Given the description of an element on the screen output the (x, y) to click on. 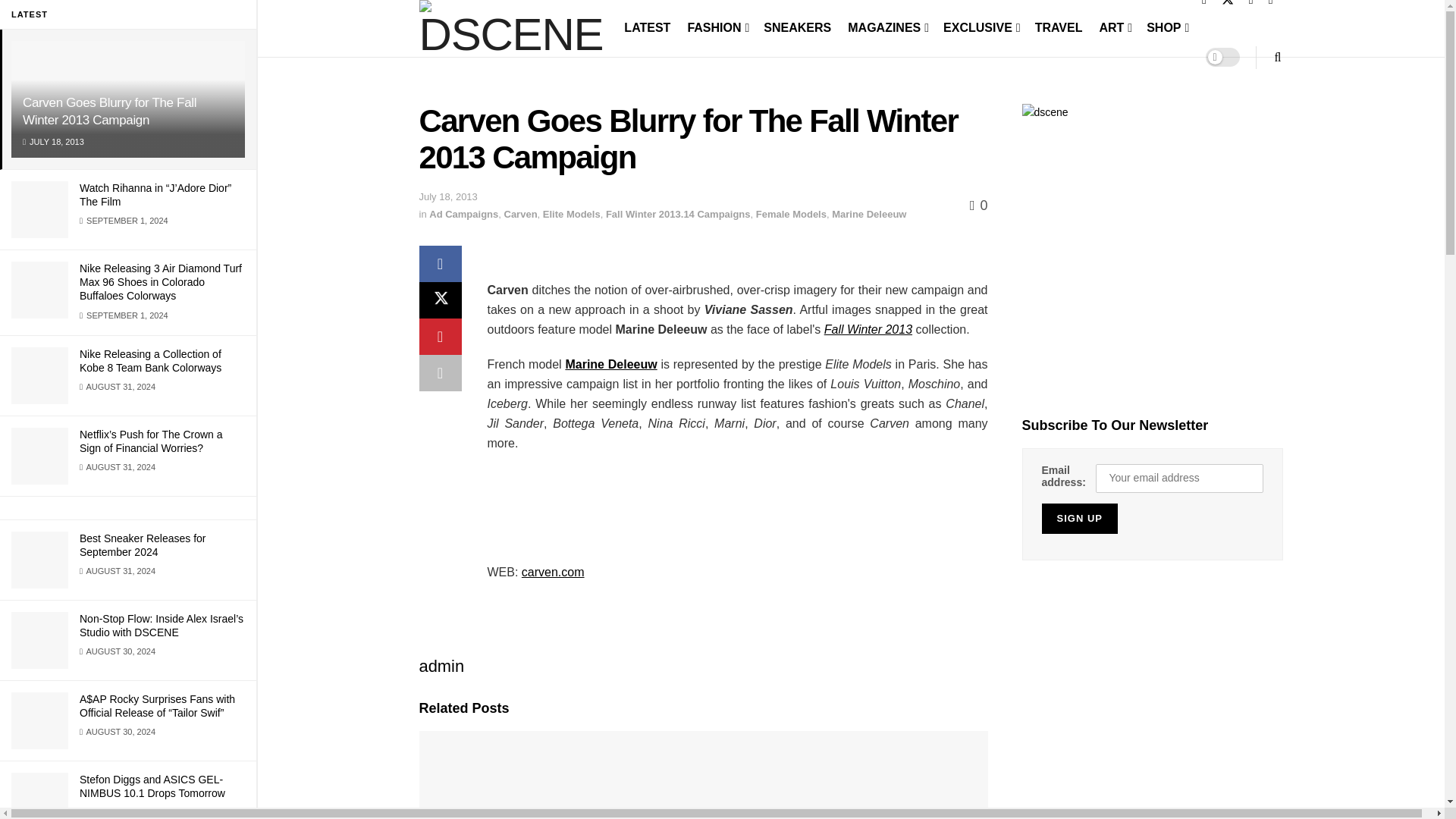
LATEST (646, 27)
Sign up (1080, 518)
Nike Releasing a Collection of Kobe 8 Team Bank Colorways (150, 360)
Carven Goes Blurry for The Fall Winter 2013 Campaign (109, 111)
FASHION (716, 27)
Stefon Diggs and ASICS GEL-NIMBUS 10.1 Drops Tomorrow (152, 786)
Best Sneaker Releases for September 2024 (143, 544)
